Given the description of an element on the screen output the (x, y) to click on. 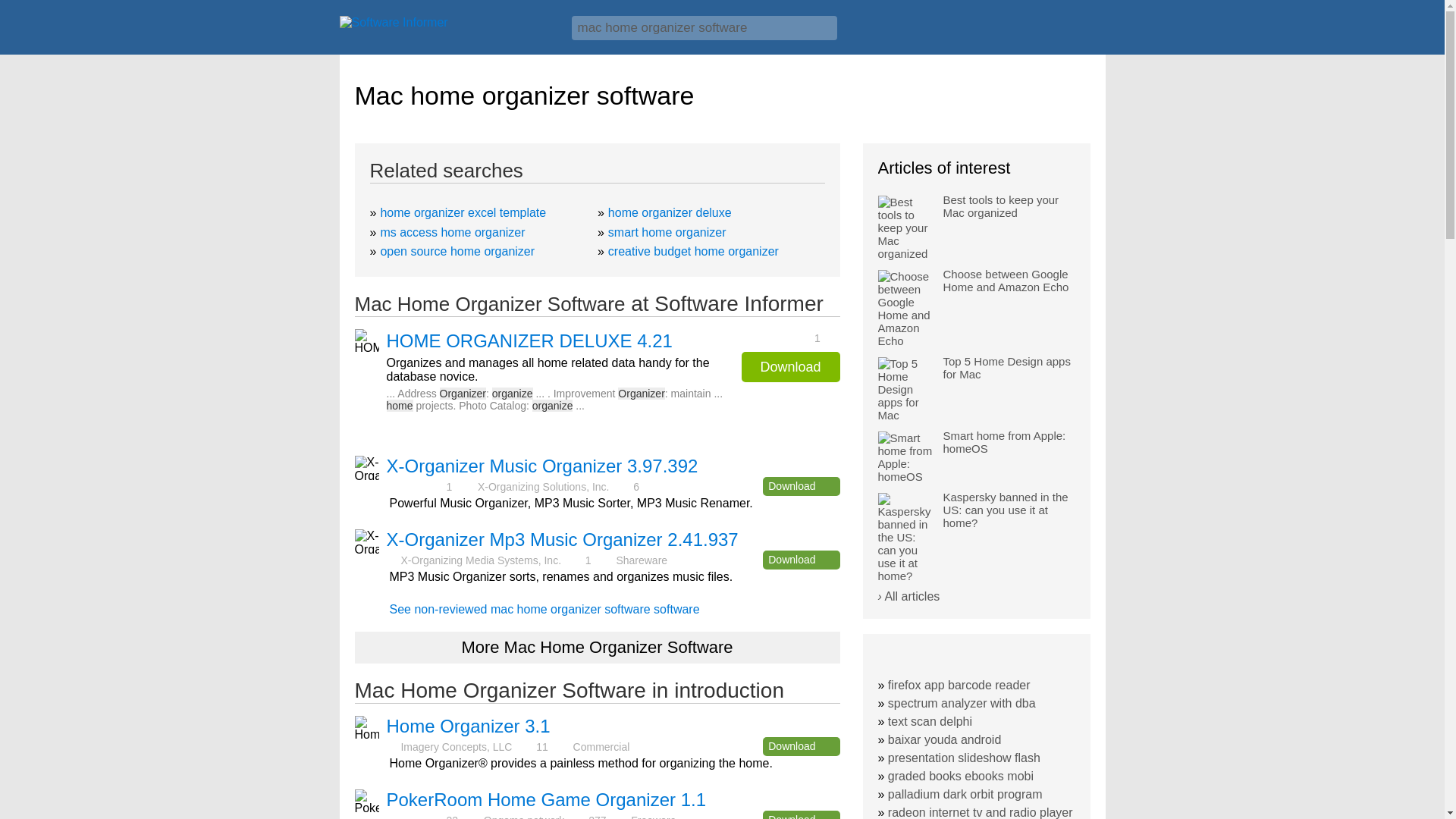
home organizer deluxe (670, 212)
Download (801, 559)
Software downloads and reviews (446, 25)
X-Organizer Mp3 Music Organizer 2.41.937 (562, 539)
X-Organizer Music Organizer 3.97.392 (542, 465)
smart home organizer (667, 232)
Windows (1070, 33)
1 votes (785, 336)
See non-reviewed mac home organizer software software (545, 608)
Home Organizer 3.1 (468, 725)
X-Organizer Music Organizer 3.97.392 (542, 465)
Download (801, 746)
HOME ORGANIZER DELUXE 4.21 (529, 340)
Download (801, 486)
